Given the description of an element on the screen output the (x, y) to click on. 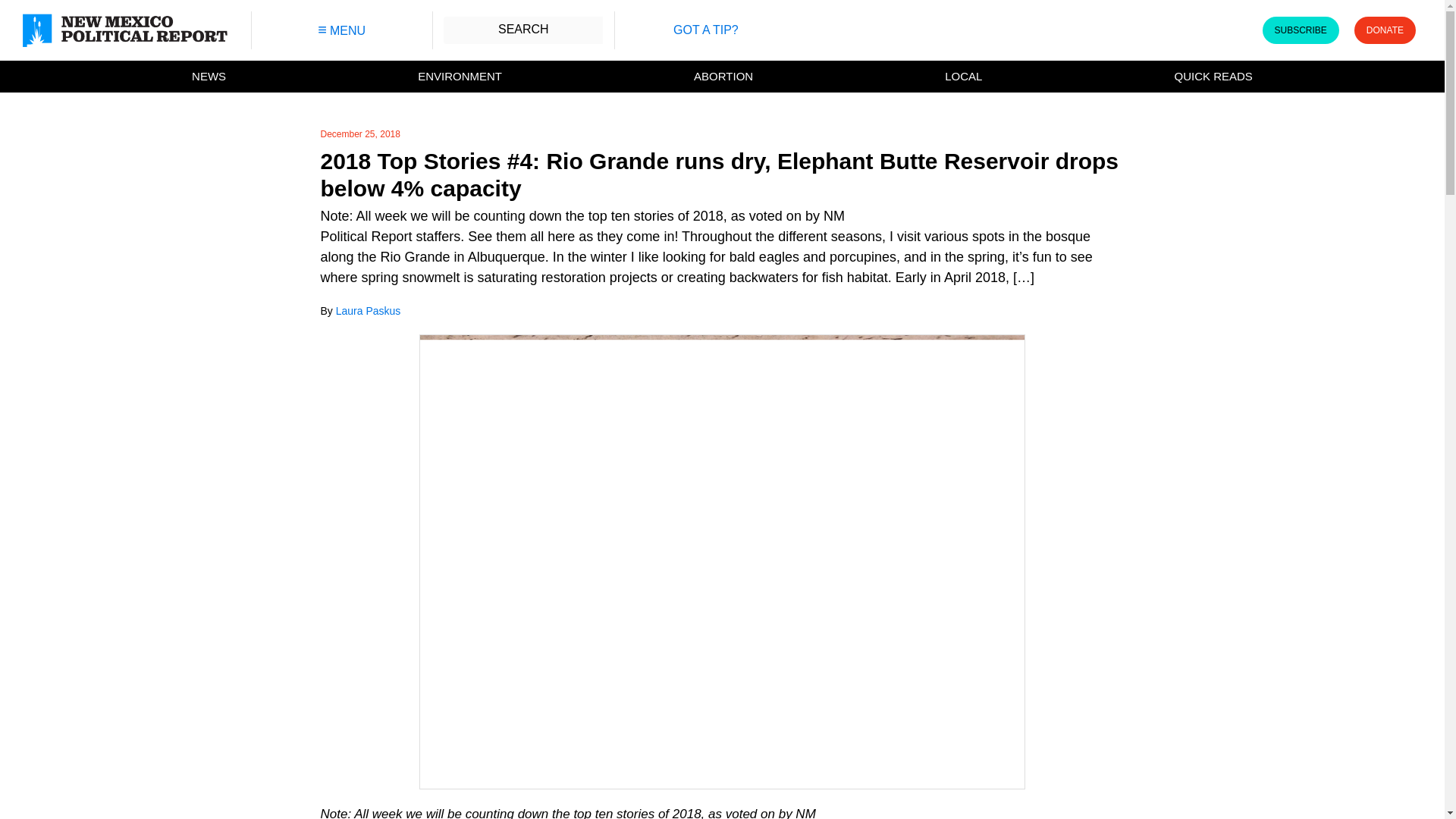
GOT A TIP? (705, 29)
SUBSCRIBE (1300, 30)
DONATE (1384, 30)
NEWS (208, 76)
ABORTION (723, 76)
LOCAL (962, 76)
MENU (341, 30)
ENVIRONMENT (459, 76)
QUICK READS (1213, 76)
